Given the description of an element on the screen output the (x, y) to click on. 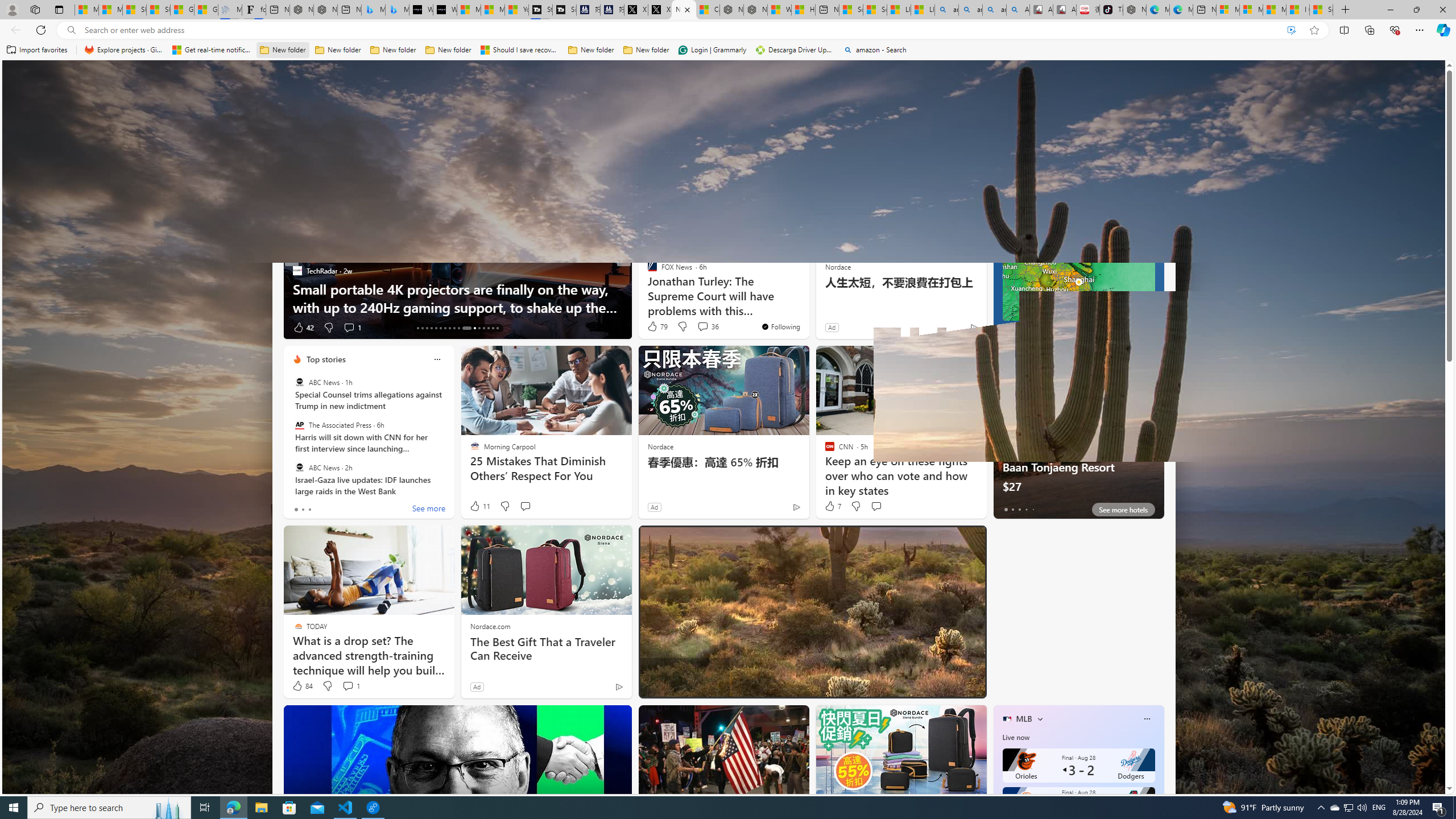
AutomationID: tab-23 (462, 328)
ABC News (299, 466)
Copilot (Ctrl+Shift+.) (1442, 29)
Autos (851, 151)
Larger map  (1077, 282)
Stay protected while you browse with Microsoft Edge (1074, 657)
Add this page to favorites (Ctrl+D) (1314, 29)
Learning (659, 151)
More interests (1039, 718)
40 Like (652, 327)
